Given the description of an element on the screen output the (x, y) to click on. 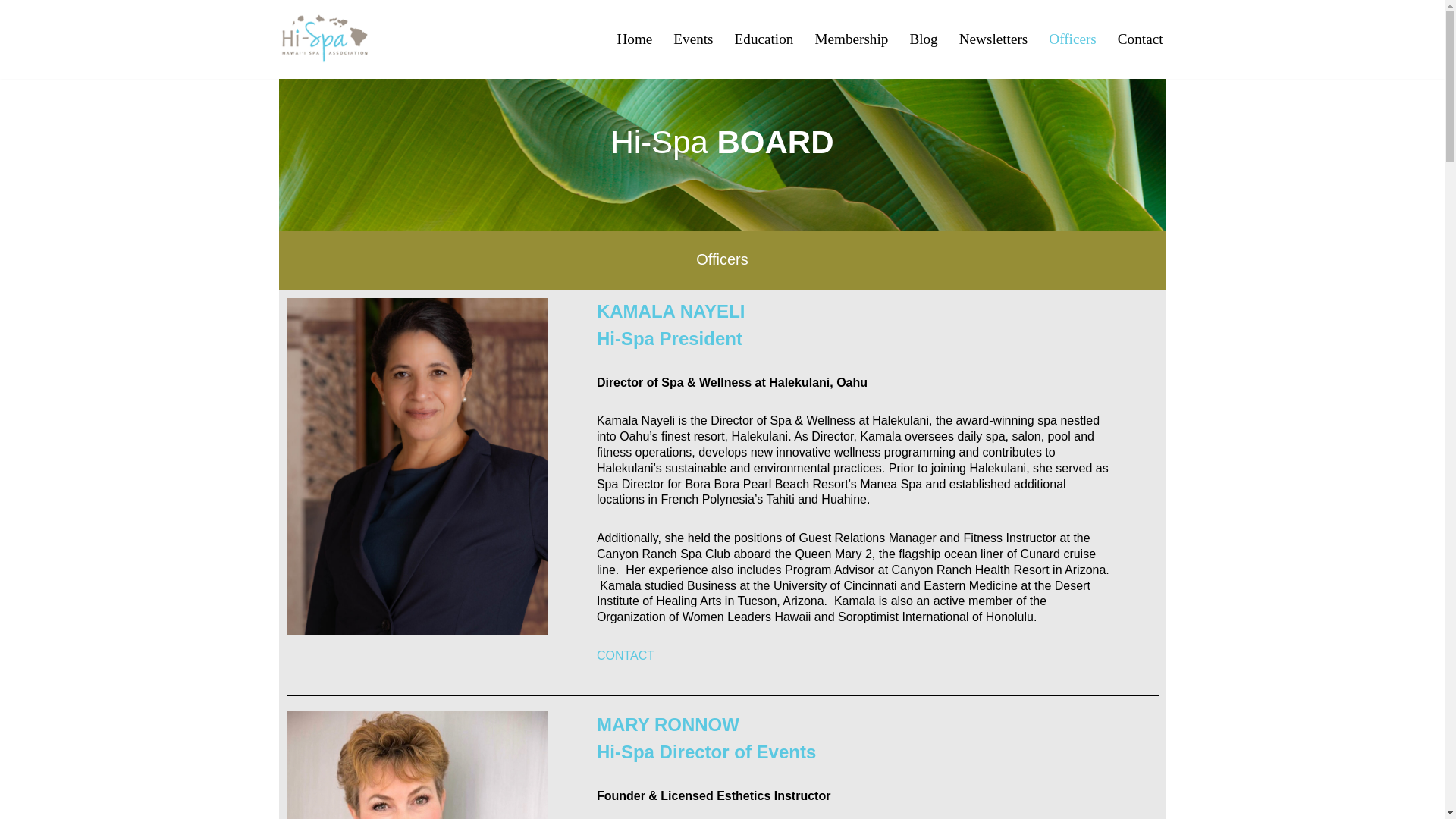
Skip to content (11, 31)
Contact (1140, 39)
Home (633, 39)
Blog (922, 39)
Membership (850, 39)
Newsletters (993, 39)
CONTACT (624, 655)
Events (692, 39)
Officers (1072, 39)
Education (764, 39)
